Given the description of an element on the screen output the (x, y) to click on. 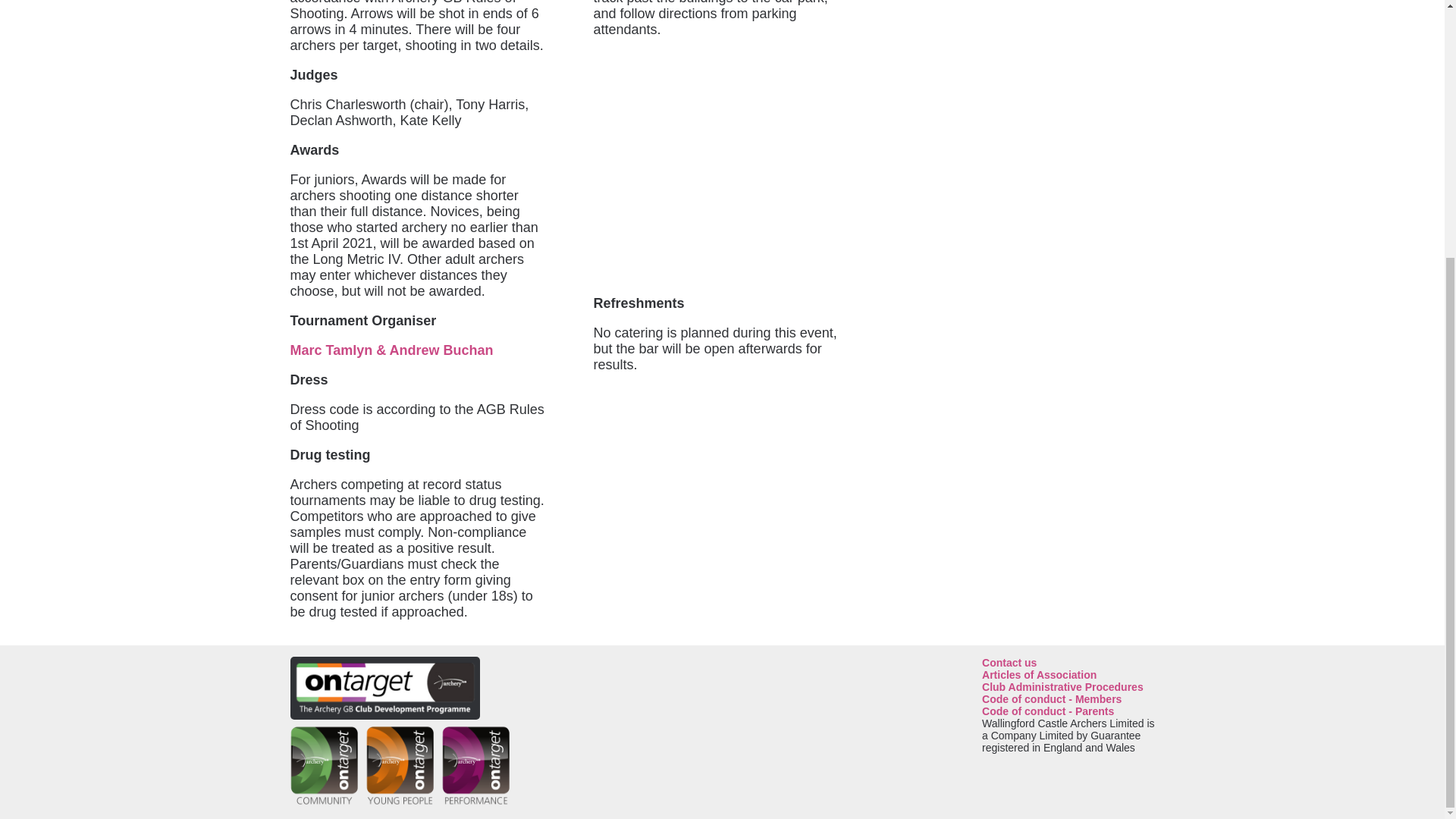
Code of conduct - Parents (1067, 711)
Articles of Association (1067, 674)
Club Administrative Procedures (1067, 686)
Code of conduct - Members (1067, 698)
Contact us (1067, 662)
